Given the description of an element on the screen output the (x, y) to click on. 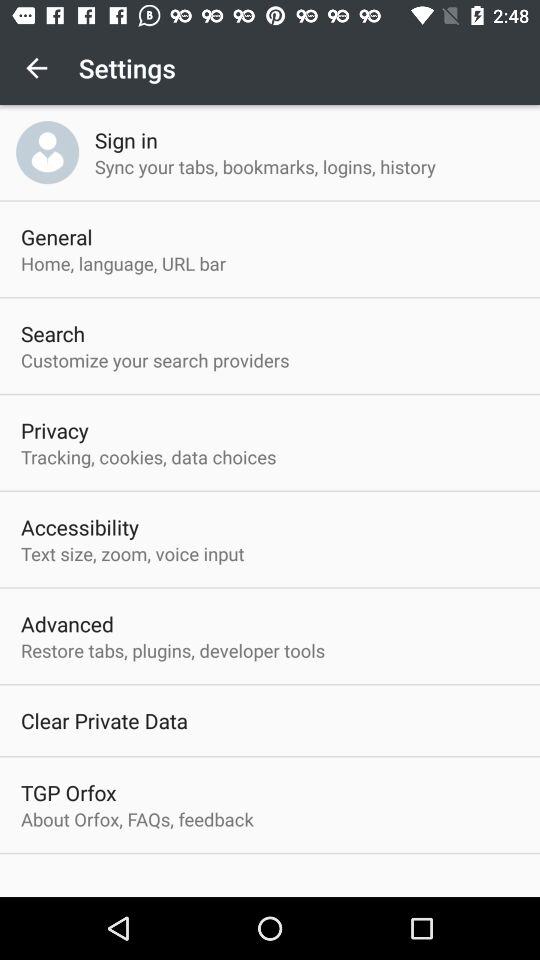
press icon above the tracking cookies data app (54, 430)
